Given the description of an element on the screen output the (x, y) to click on. 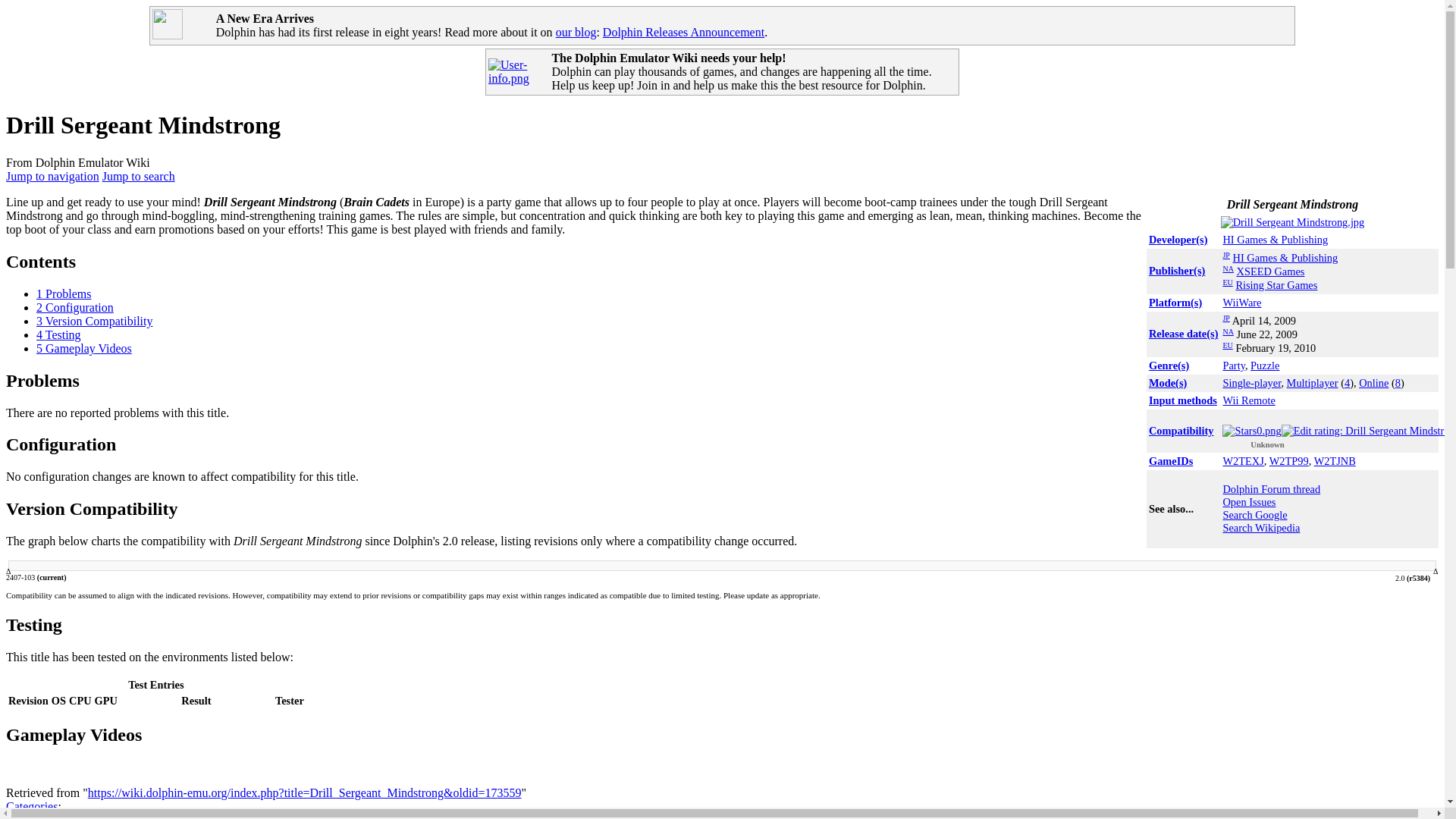
Category:Genres (1168, 365)
Online (1373, 382)
WiiWare (1241, 302)
Input methods (1182, 399)
Multiplayer (1312, 382)
Puzzle (1264, 365)
Single-player (1252, 382)
W2TEXJ (1243, 460)
Category:Platforms (1175, 302)
our blog (576, 31)
GameIDs (1170, 460)
Category:Initial release year (1183, 333)
Party (1233, 365)
Jump to navigation (52, 175)
WiiWare (1241, 302)
